Given the description of an element on the screen output the (x, y) to click on. 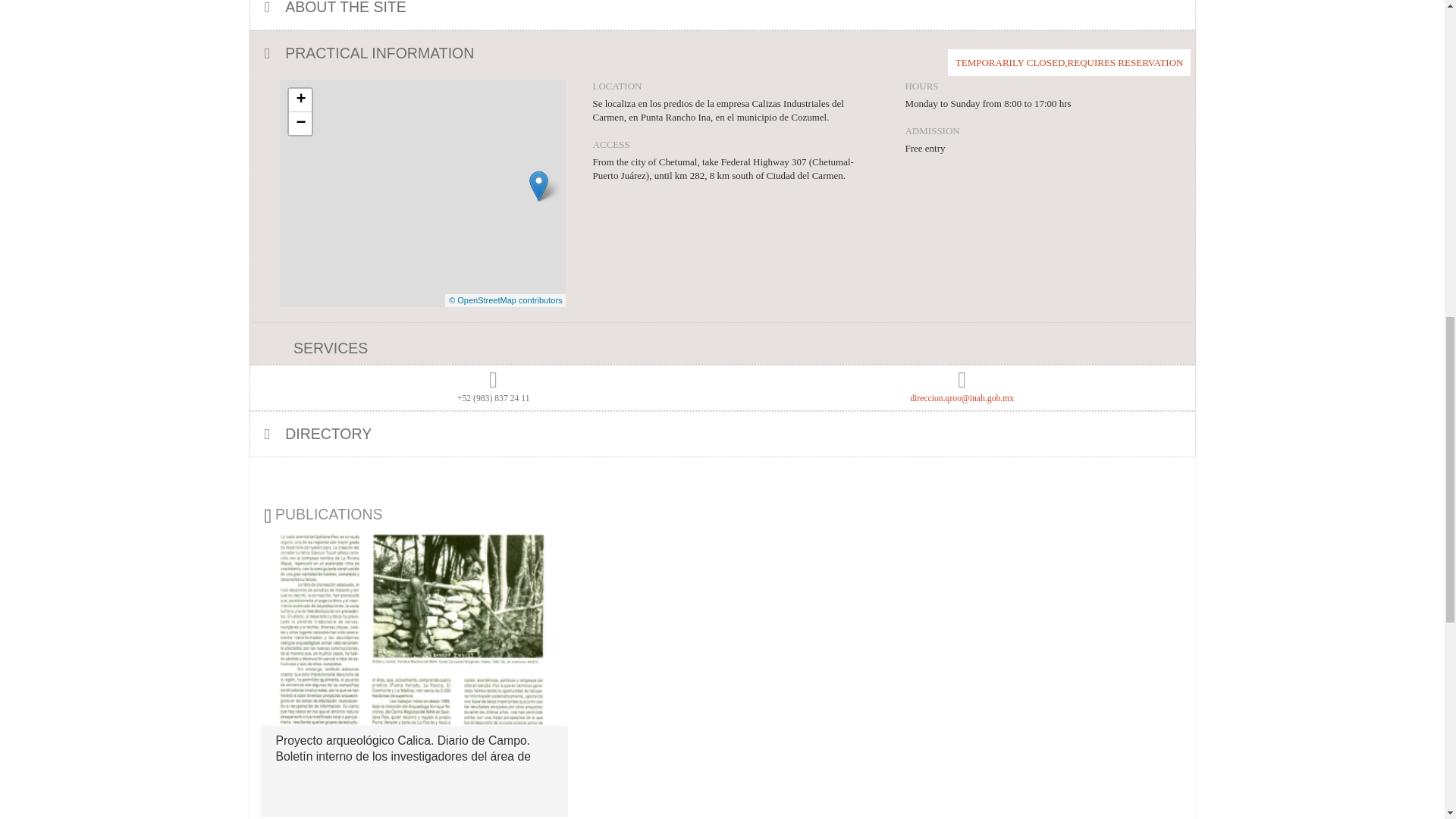
PUBLICATIONS (366, 514)
Zoom out (299, 123)
Zoom in (299, 100)
